Given the description of an element on the screen output the (x, y) to click on. 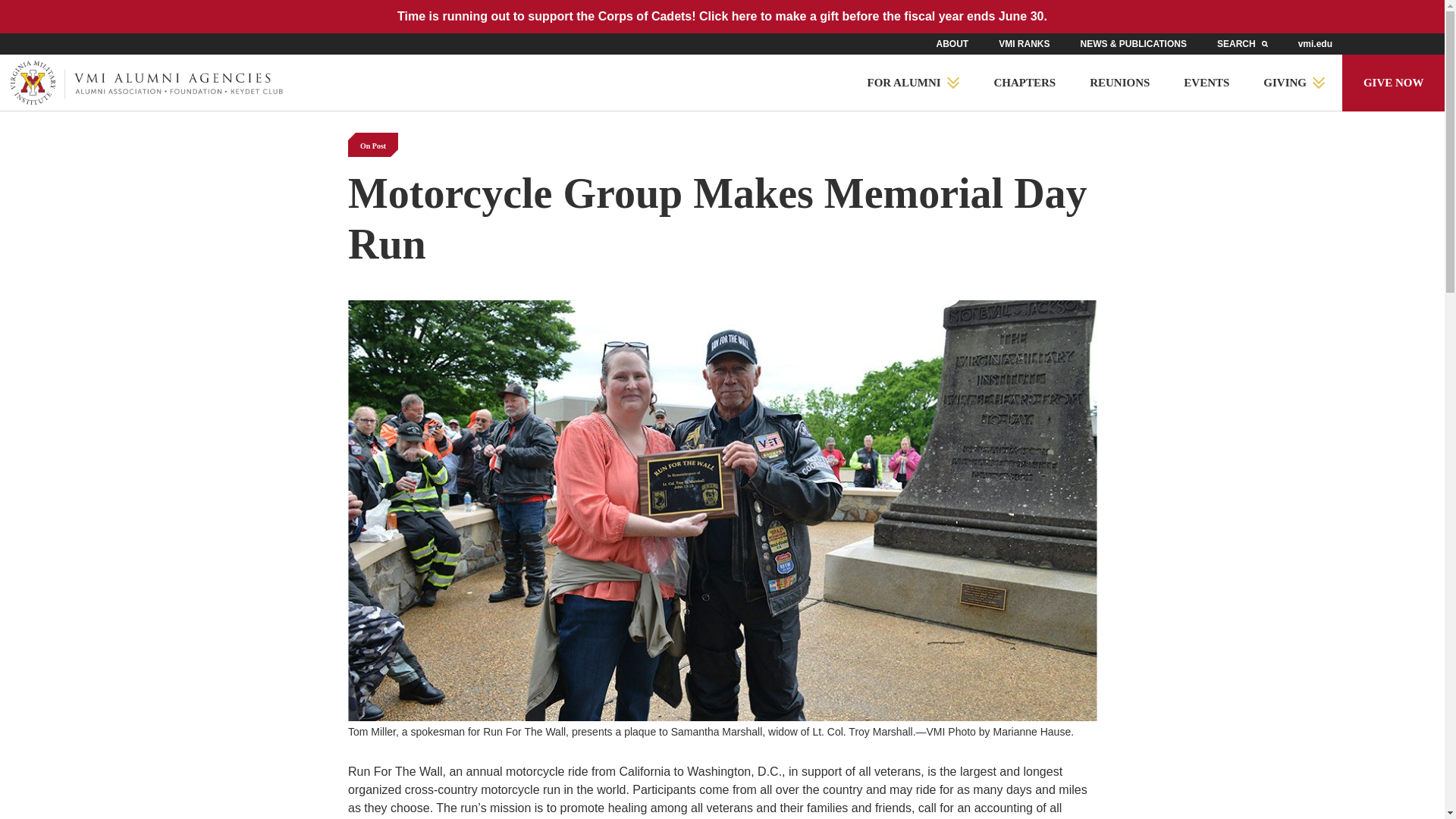
vmi.edu (1315, 43)
SEARCH (1242, 43)
chevron (953, 82)
On Post (372, 144)
CHAPTERS (1024, 82)
VMI-ALUMNI (146, 82)
VMI RANKS (1023, 43)
GIVING (1294, 82)
FOR ALUMNI (913, 82)
chevron (1318, 82)
SKIP TO MAIN CONTENT (216, 16)
REUNIONS (1120, 82)
EVENTS (1206, 82)
ABOUT (952, 43)
